Given the description of an element on the screen output the (x, y) to click on. 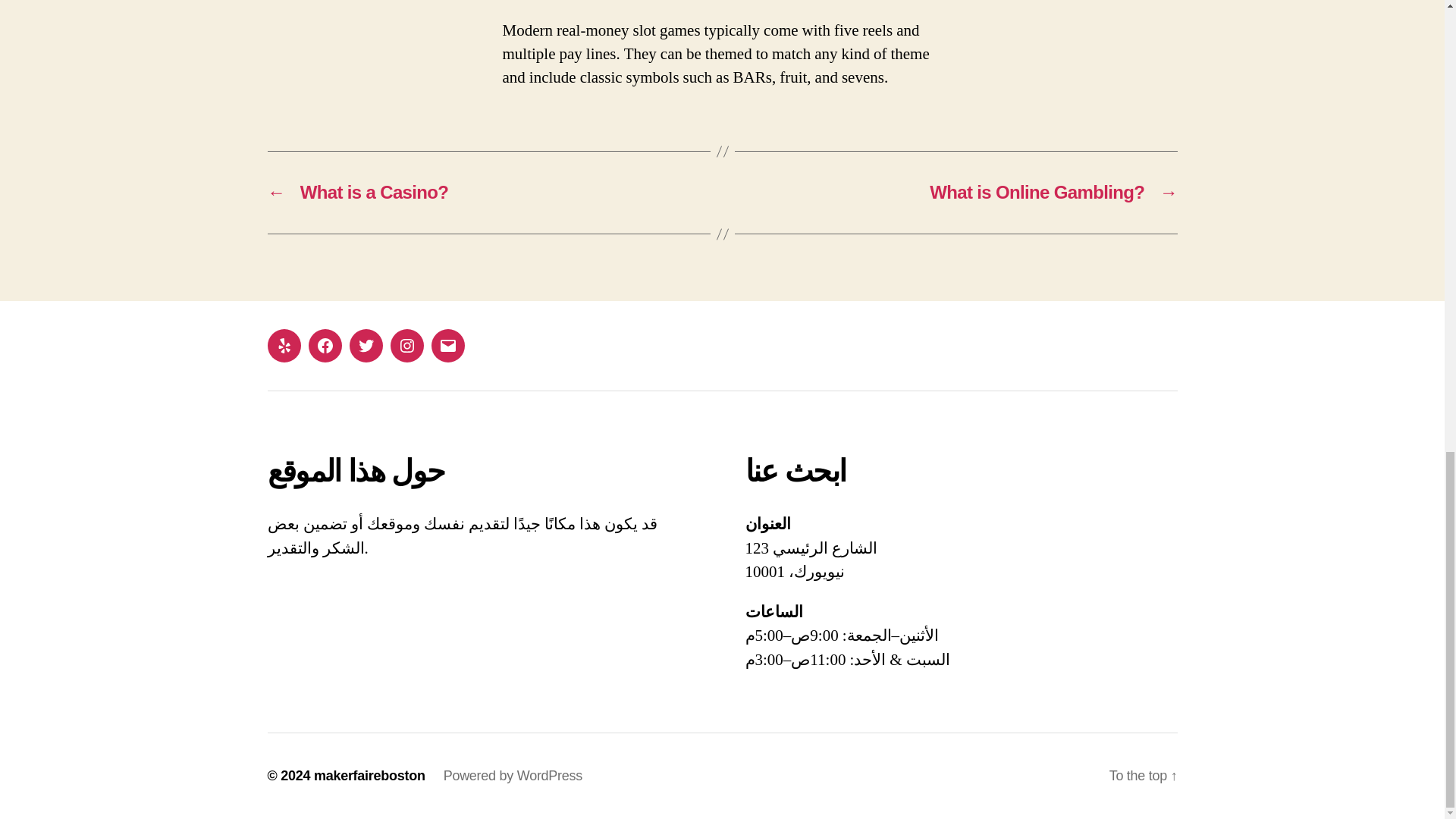
makerfaireboston (369, 775)
Instagram (406, 345)
Powered by WordPress (513, 775)
Yelp (282, 345)
